Given the description of an element on the screen output the (x, y) to click on. 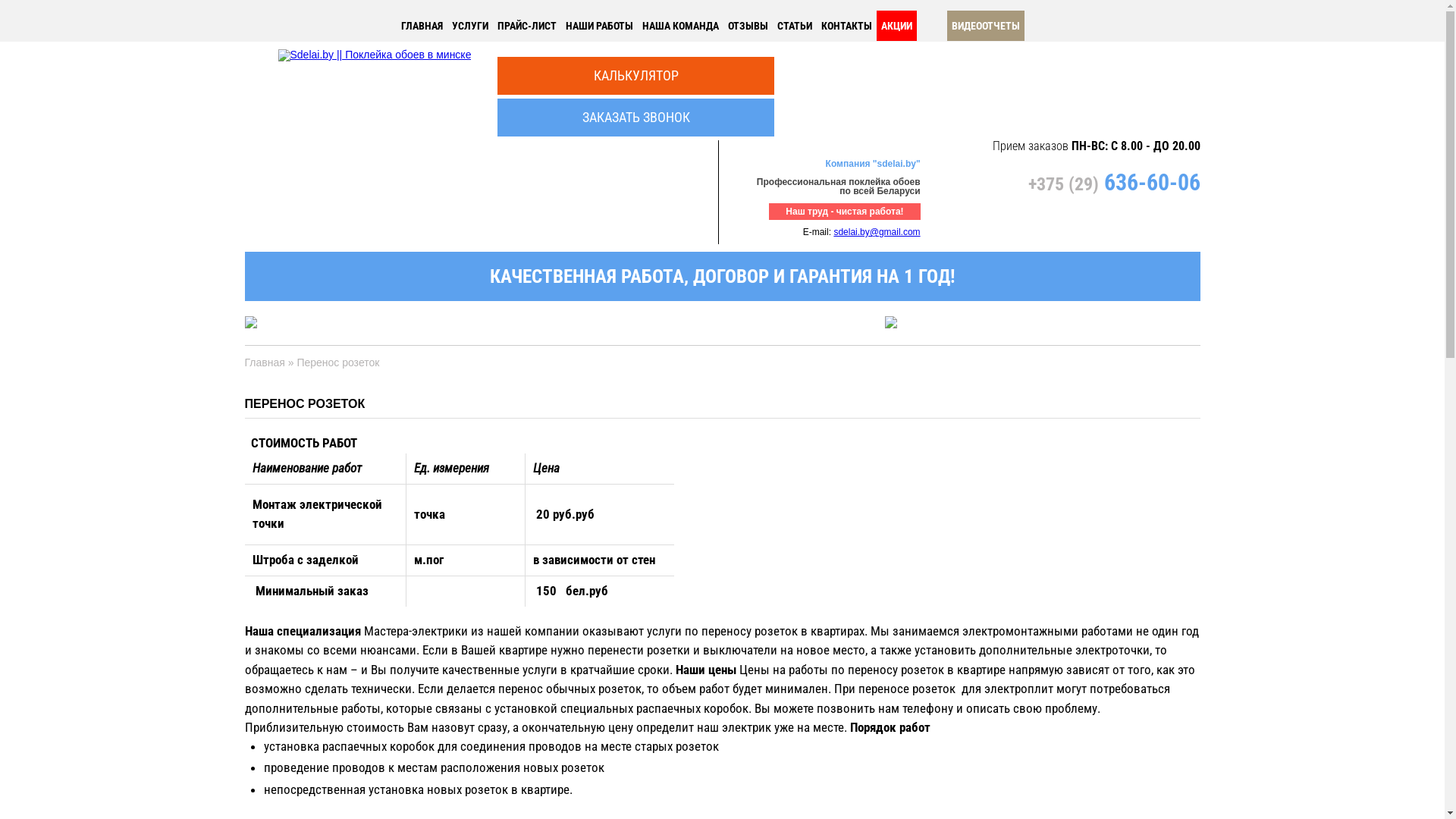
sdelai.by@gmail.com Element type: text (876, 231)
